Given the description of an element on the screen output the (x, y) to click on. 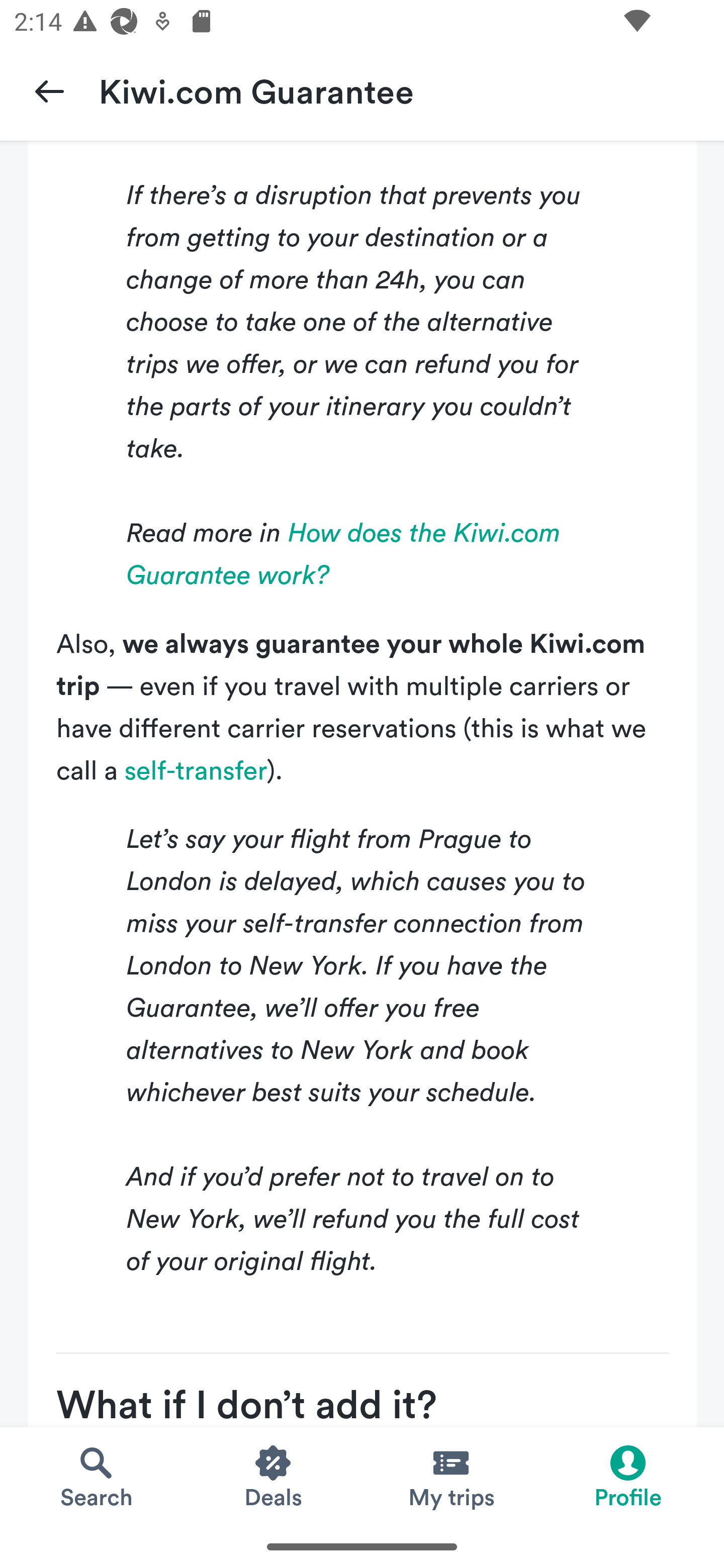
Navigate up (49, 90)
Search (95, 1475)
Deals (273, 1475)
My trips (450, 1475)
